Given the description of an element on the screen output the (x, y) to click on. 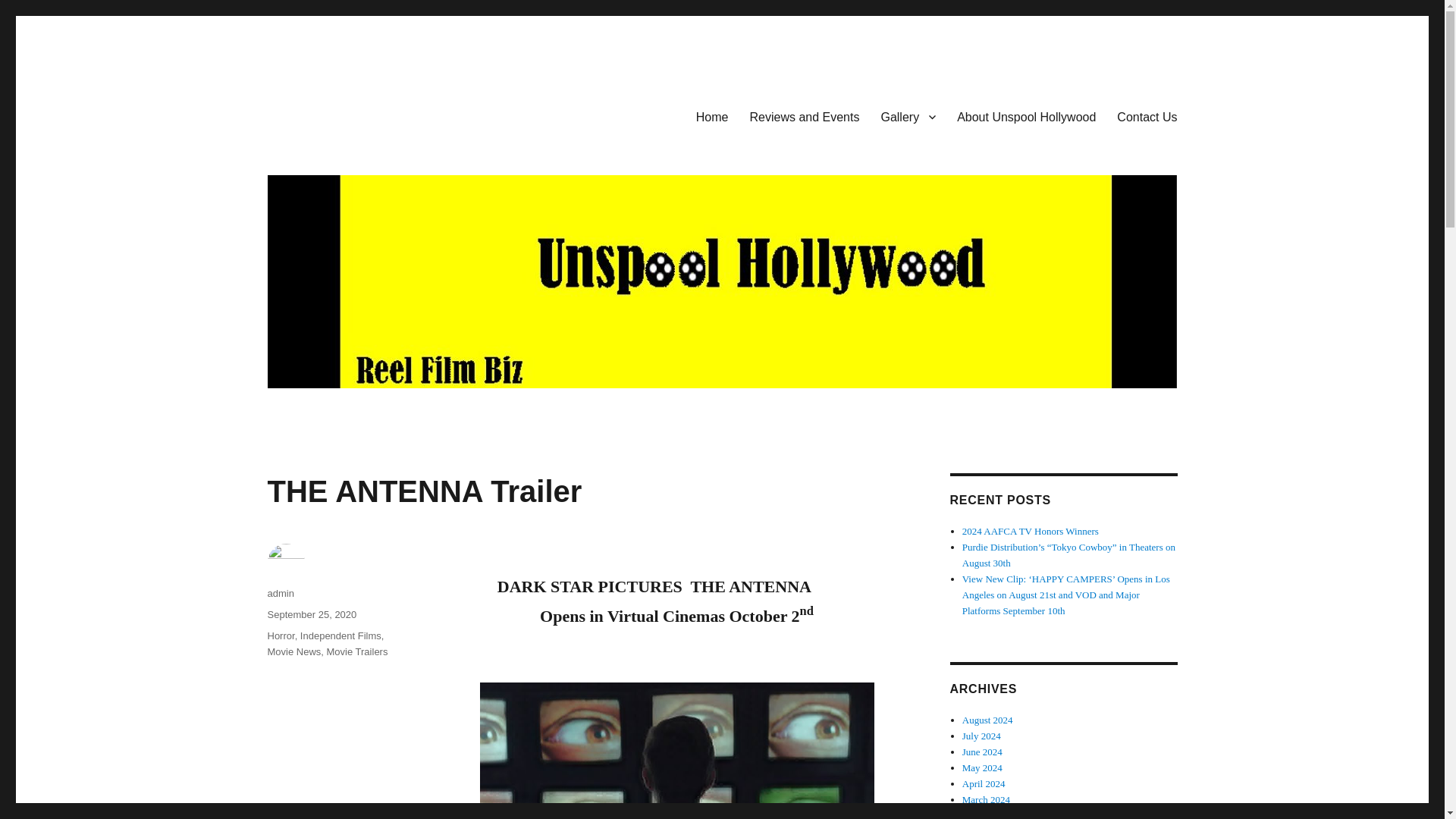
July 2024 (981, 736)
April 2024 (984, 783)
admin (280, 593)
About Unspool Hollywood (1026, 116)
February 2024 (991, 814)
August 2024 (987, 719)
Unspool Hollywood (365, 114)
Horror (280, 635)
Independent Films (340, 635)
Gallery (907, 116)
